Given the description of an element on the screen output the (x, y) to click on. 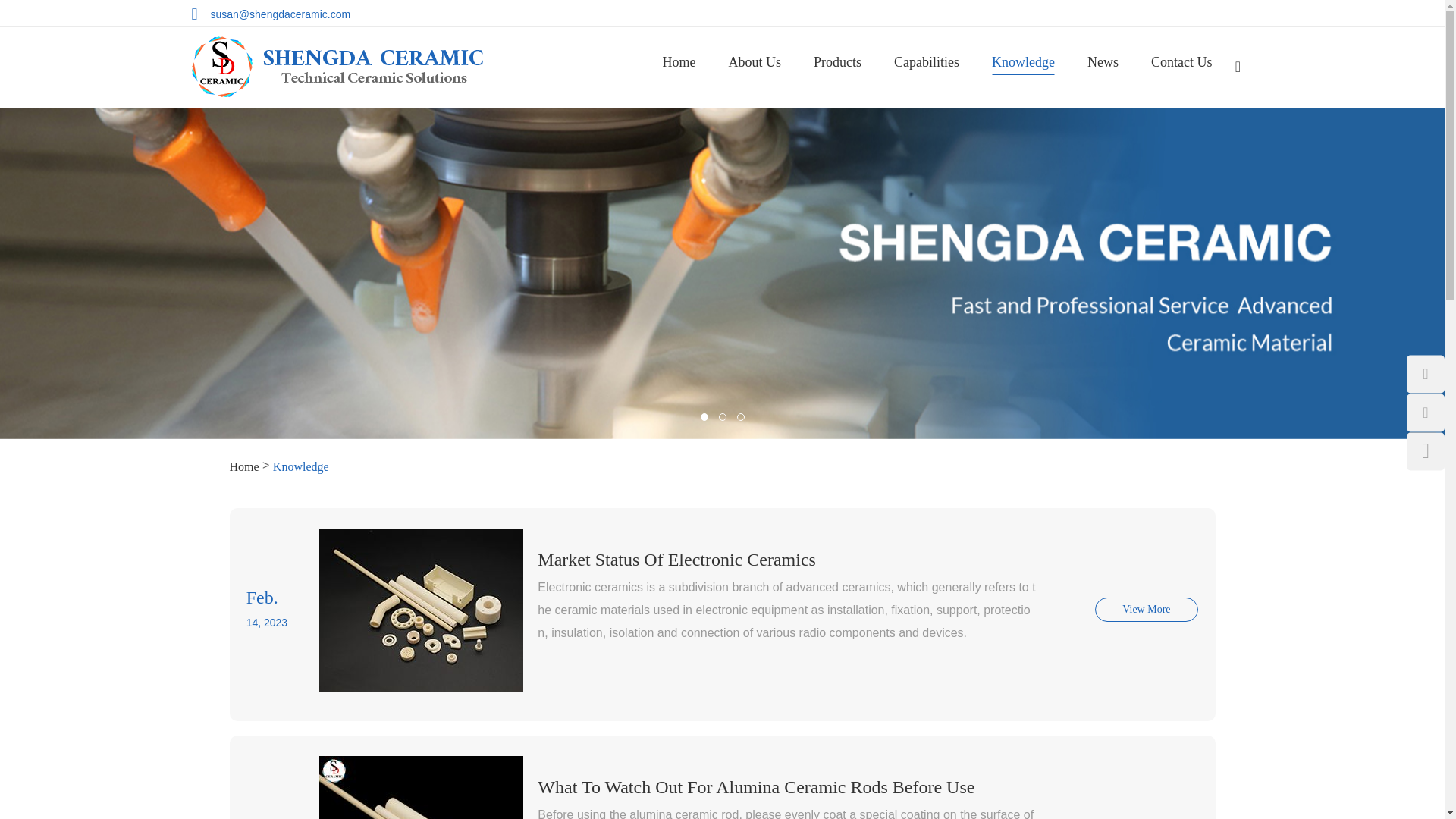
About Us (755, 62)
Products (837, 62)
Home (678, 62)
